Given the description of an element on the screen output the (x, y) to click on. 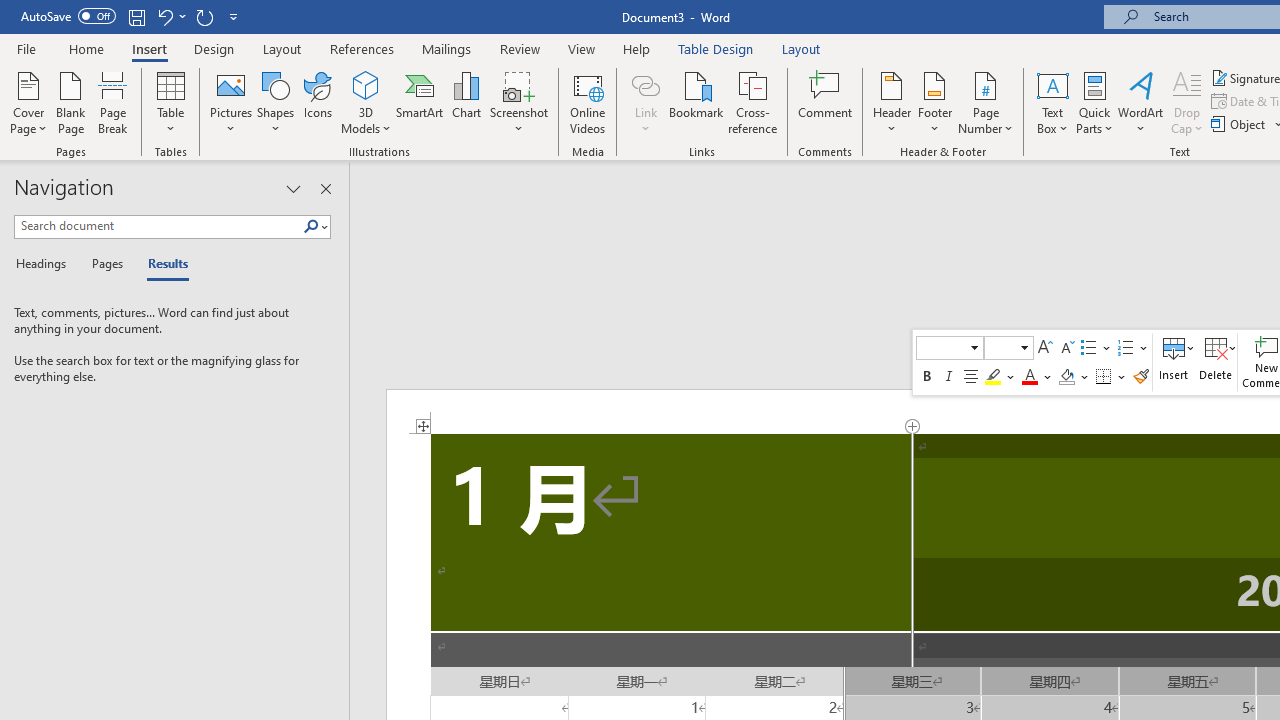
3D Models (366, 84)
Class: NetUITextbox (1000, 347)
Italic (949, 376)
Format Painter (1141, 376)
Quick Parts (1094, 102)
Page Number (986, 102)
Results (161, 264)
Class: NetUIComboboxAnchor (1009, 348)
Footer (934, 102)
